Given the description of an element on the screen output the (x, y) to click on. 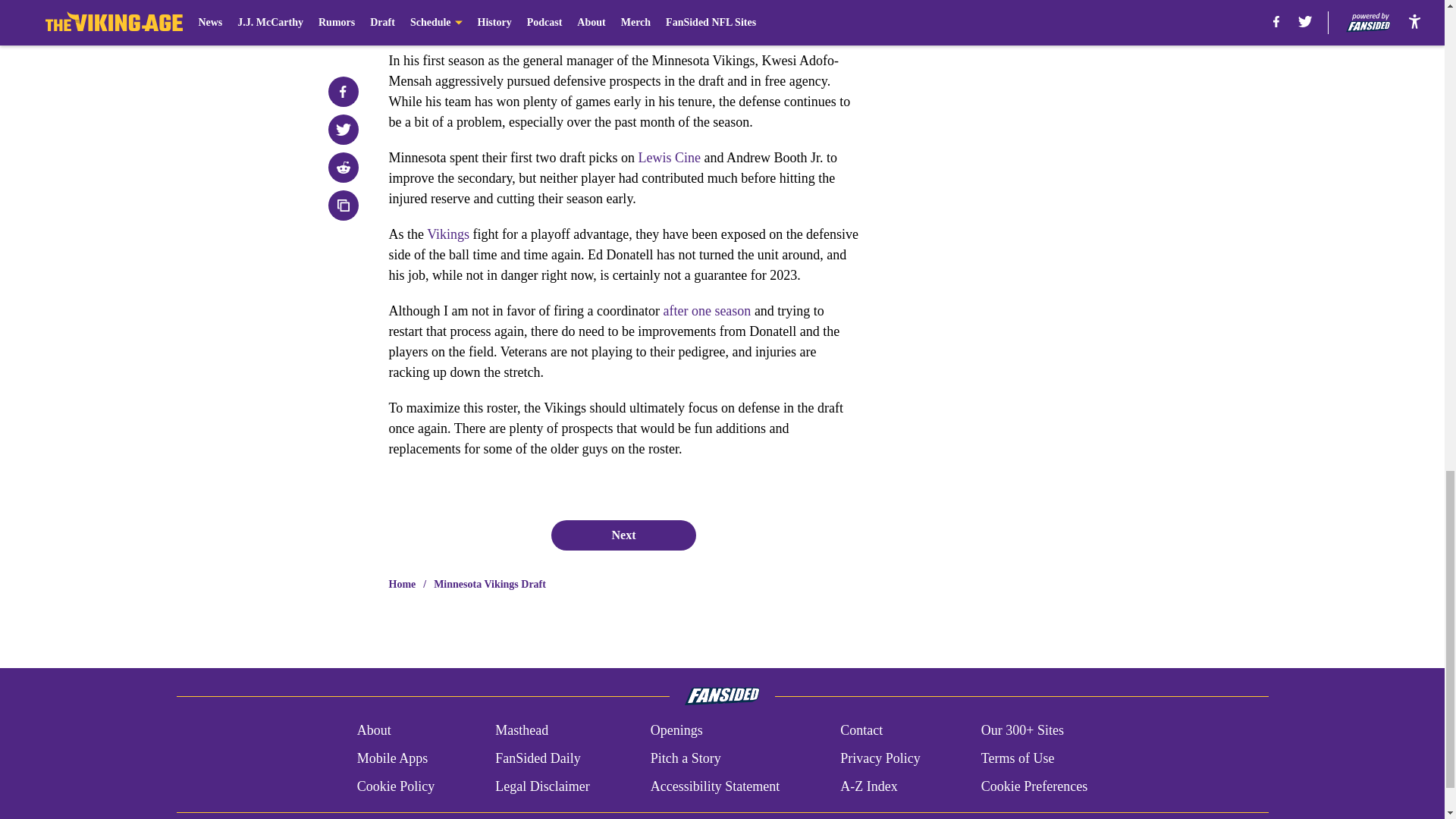
Masthead (521, 730)
Lewis Cine (668, 157)
Minnesota Vikings Draft (489, 584)
Openings (676, 730)
Next (622, 535)
Mobile Apps (392, 758)
after one season (706, 310)
FanSided Daily (537, 758)
About (373, 730)
Vikings (447, 233)
Home (401, 584)
Contact (861, 730)
Pitch a Story (685, 758)
